Given the description of an element on the screen output the (x, y) to click on. 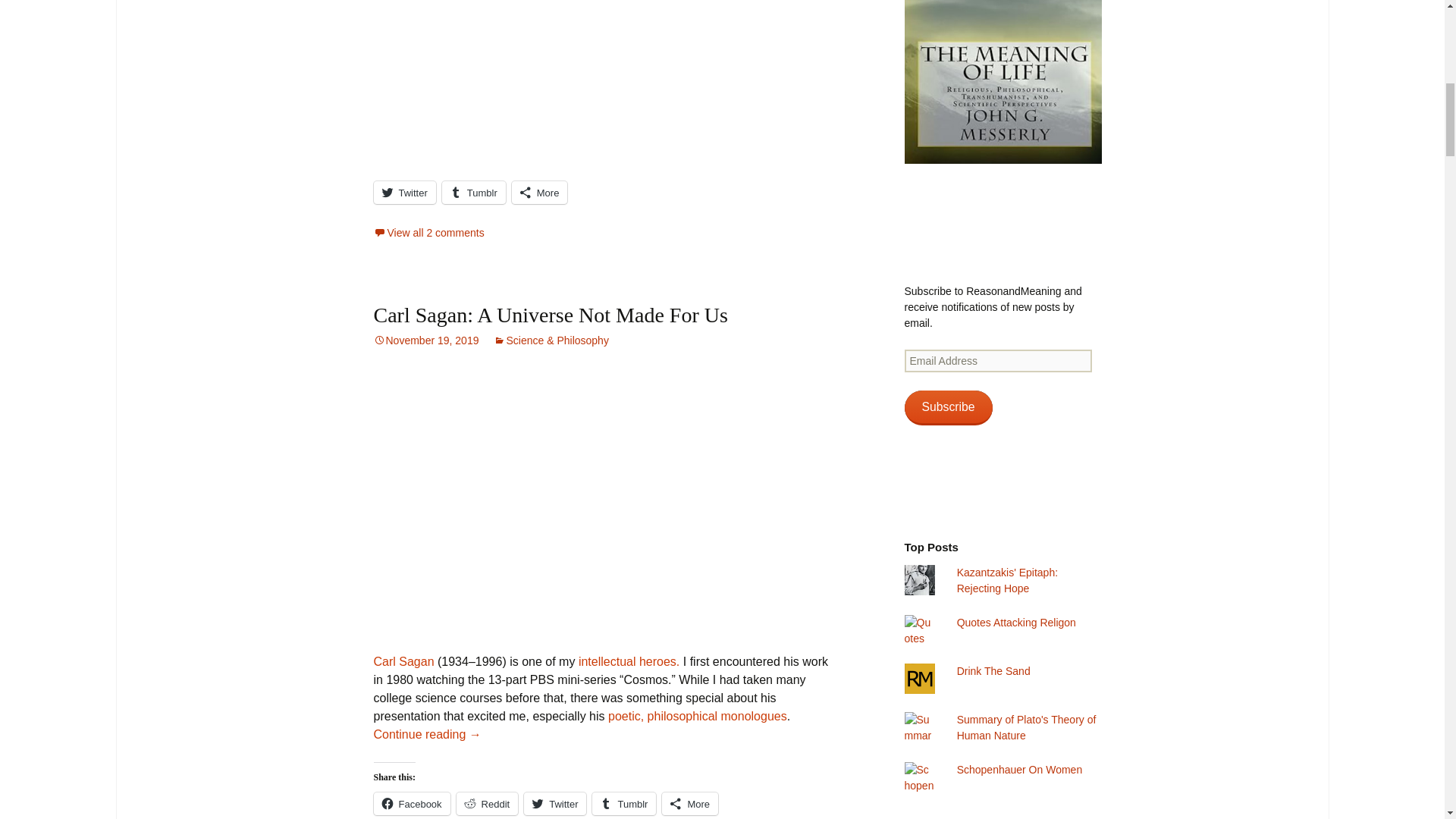
Click to share on Twitter (403, 191)
Click to share on Tumblr (473, 191)
Advertisement (601, 90)
Permalink to Carl Sagan: A Universe Not Made For Us (425, 340)
